Given the description of an element on the screen output the (x, y) to click on. 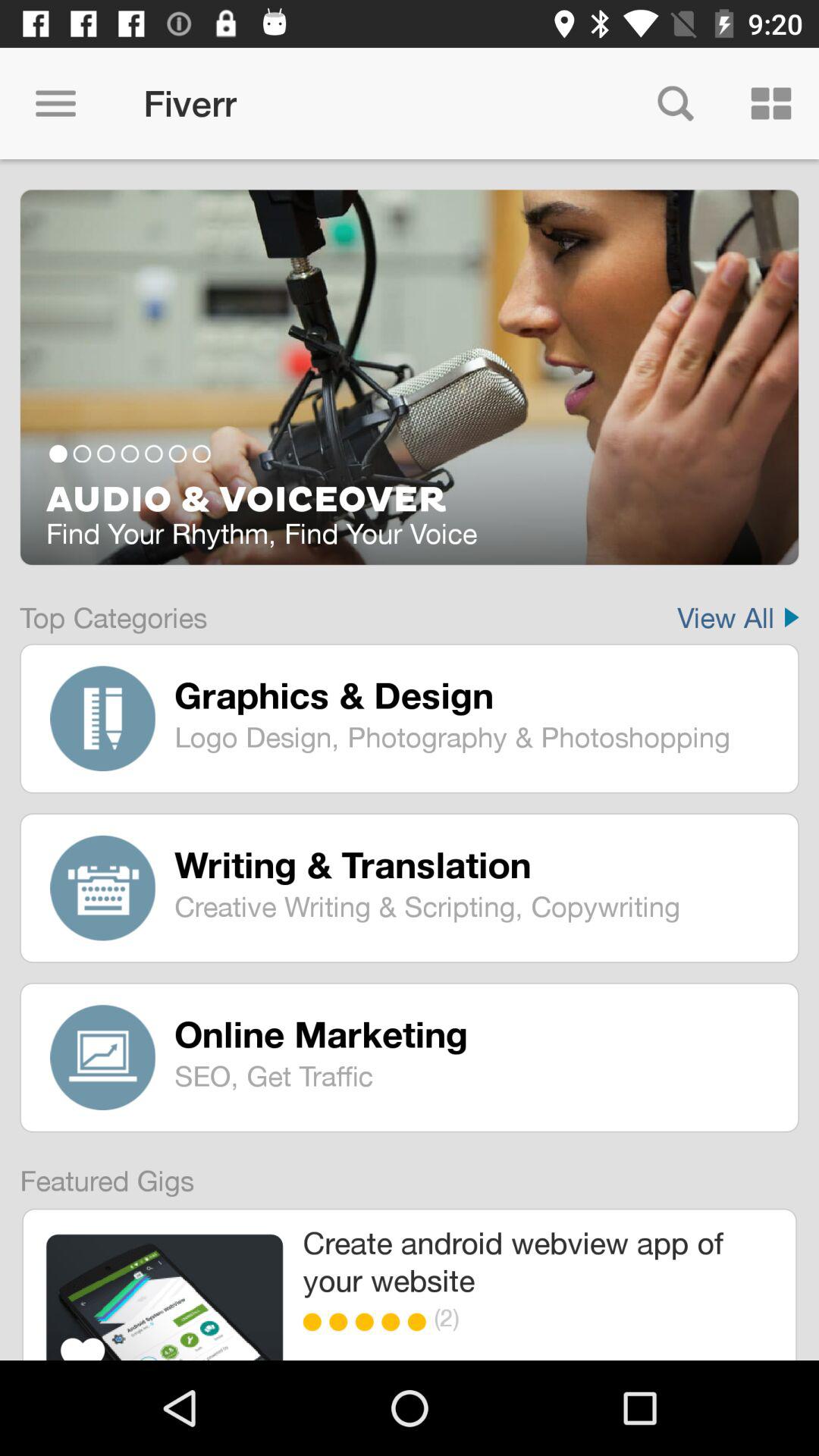
choose the item below featured gigs icon (164, 1297)
